Given the description of an element on the screen output the (x, y) to click on. 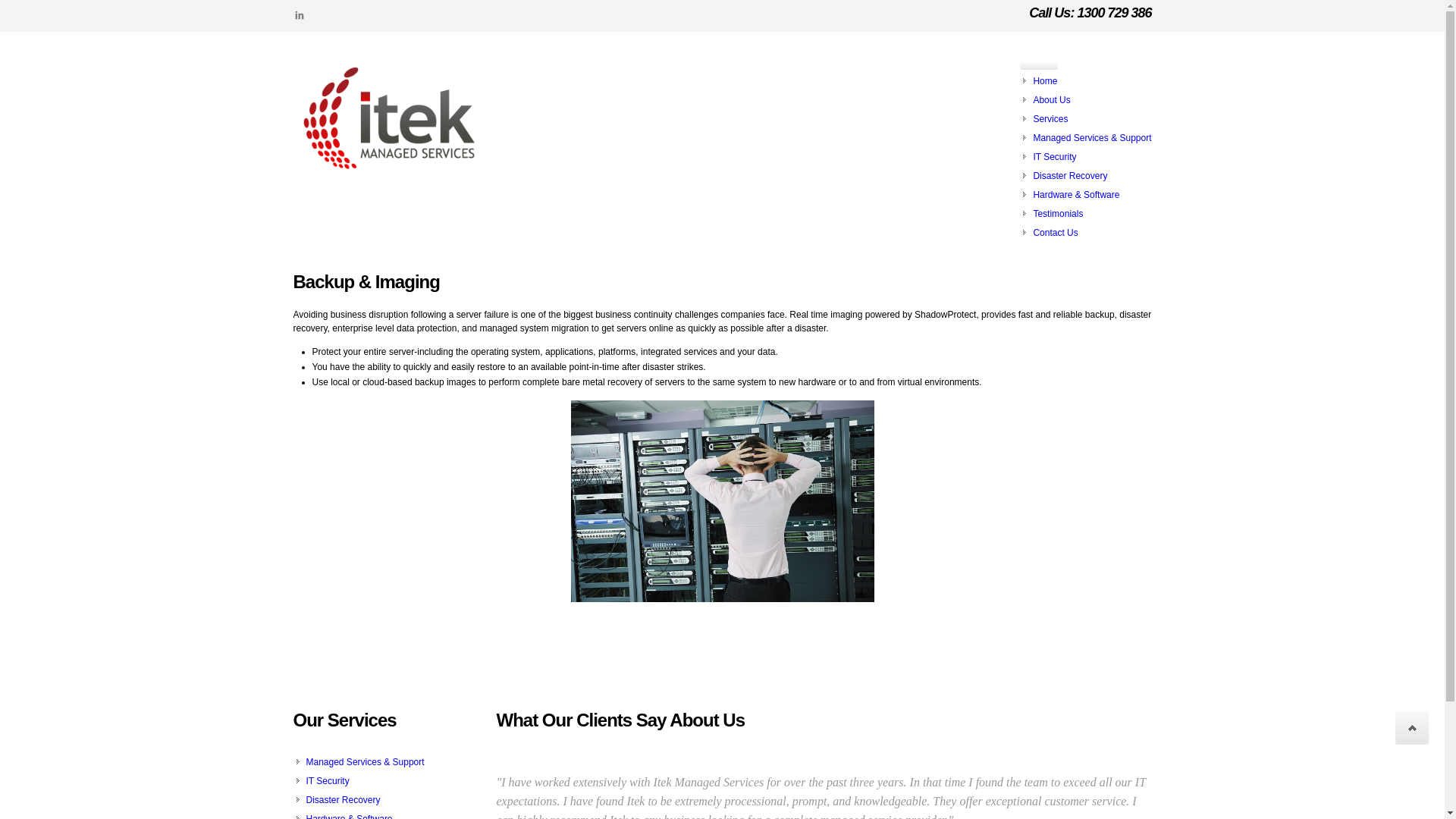
Managed Services & Support Element type: text (1091, 137)
IT Security Element type: text (327, 780)
Testimonials Element type: text (1057, 213)
Managed Services & Support Element type: text (365, 761)
Disaster Recovery Element type: text (343, 799)
IT Security Element type: text (1054, 156)
About Us Element type: text (1051, 99)
Disaster Recovery Element type: text (1069, 175)
Contact Us Element type: text (1054, 232)
Services Element type: text (1049, 118)
Home Element type: text (1044, 80)
Hardware & Software Element type: text (1075, 194)
